Given the description of an element on the screen output the (x, y) to click on. 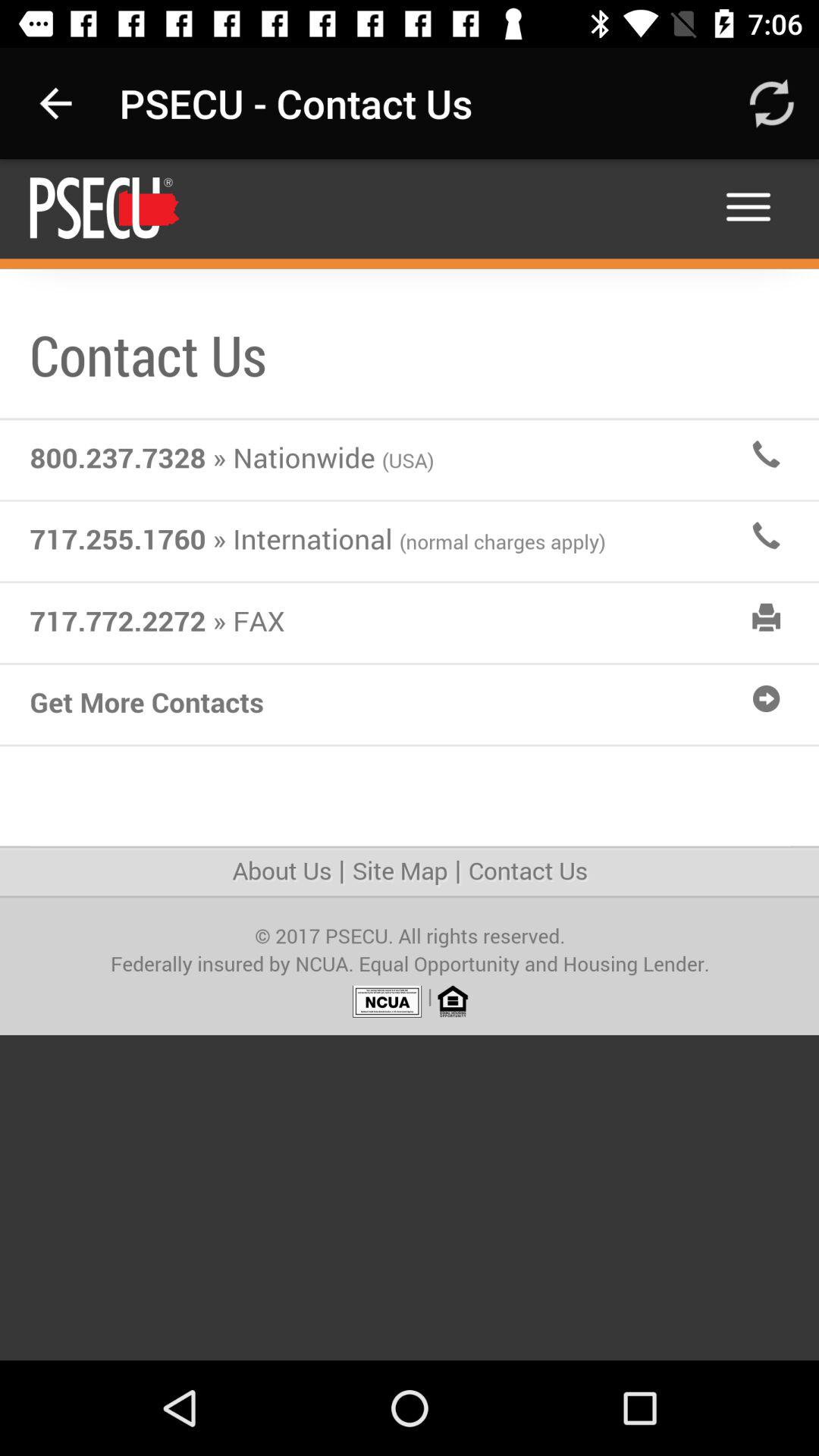
description (409, 759)
